Given the description of an element on the screen output the (x, y) to click on. 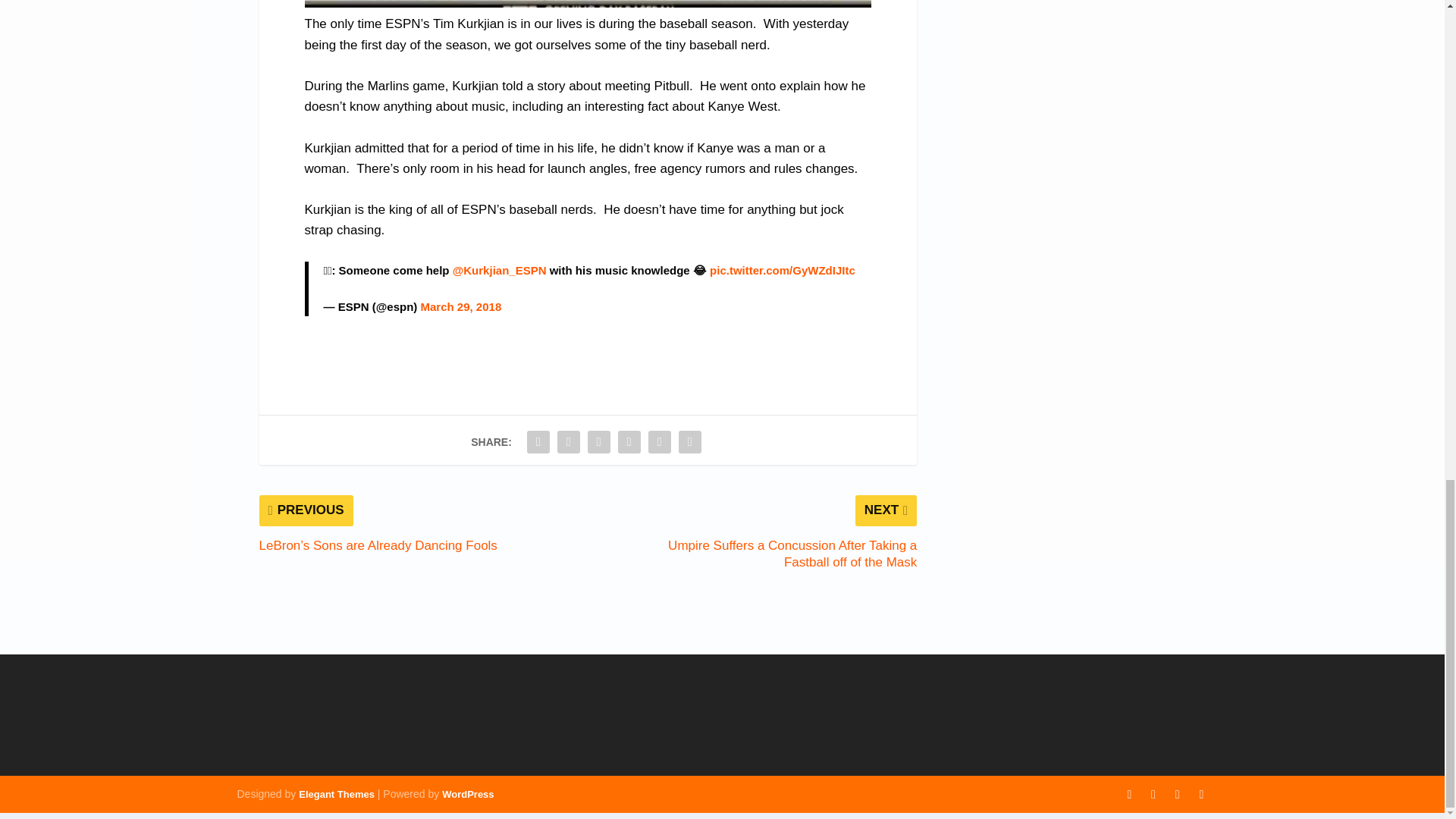
Premium WordPress Themes (336, 794)
WordPress (467, 794)
Elegant Themes (336, 794)
March 29, 2018 (460, 306)
